Given the description of an element on the screen output the (x, y) to click on. 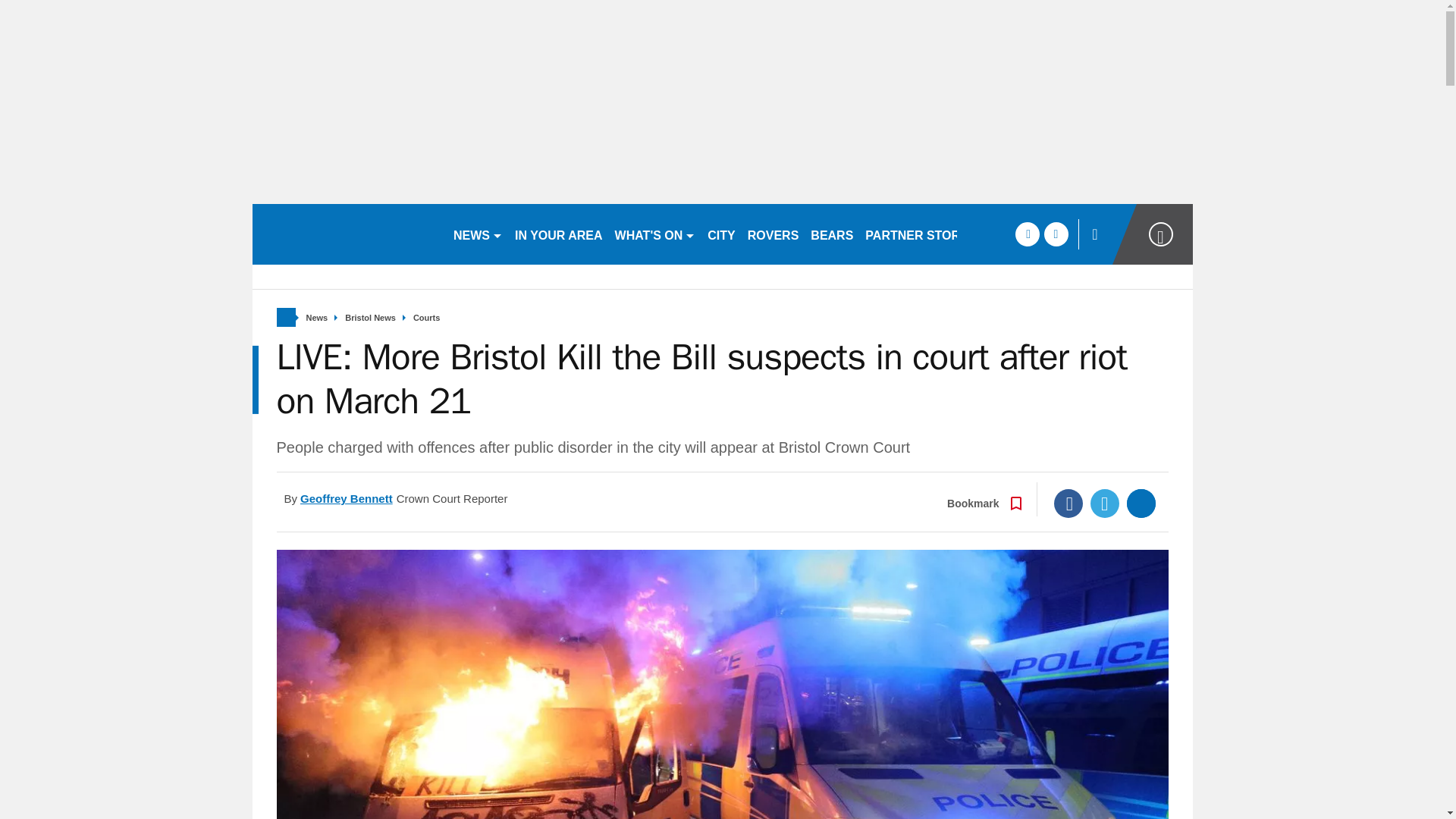
IN YOUR AREA (558, 233)
NEWS (477, 233)
BEARS (832, 233)
ROVERS (773, 233)
bristolpost (345, 233)
facebook (1026, 233)
twitter (1055, 233)
PARTNER STORIES (922, 233)
Facebook (1068, 502)
WHAT'S ON (654, 233)
